Given the description of an element on the screen output the (x, y) to click on. 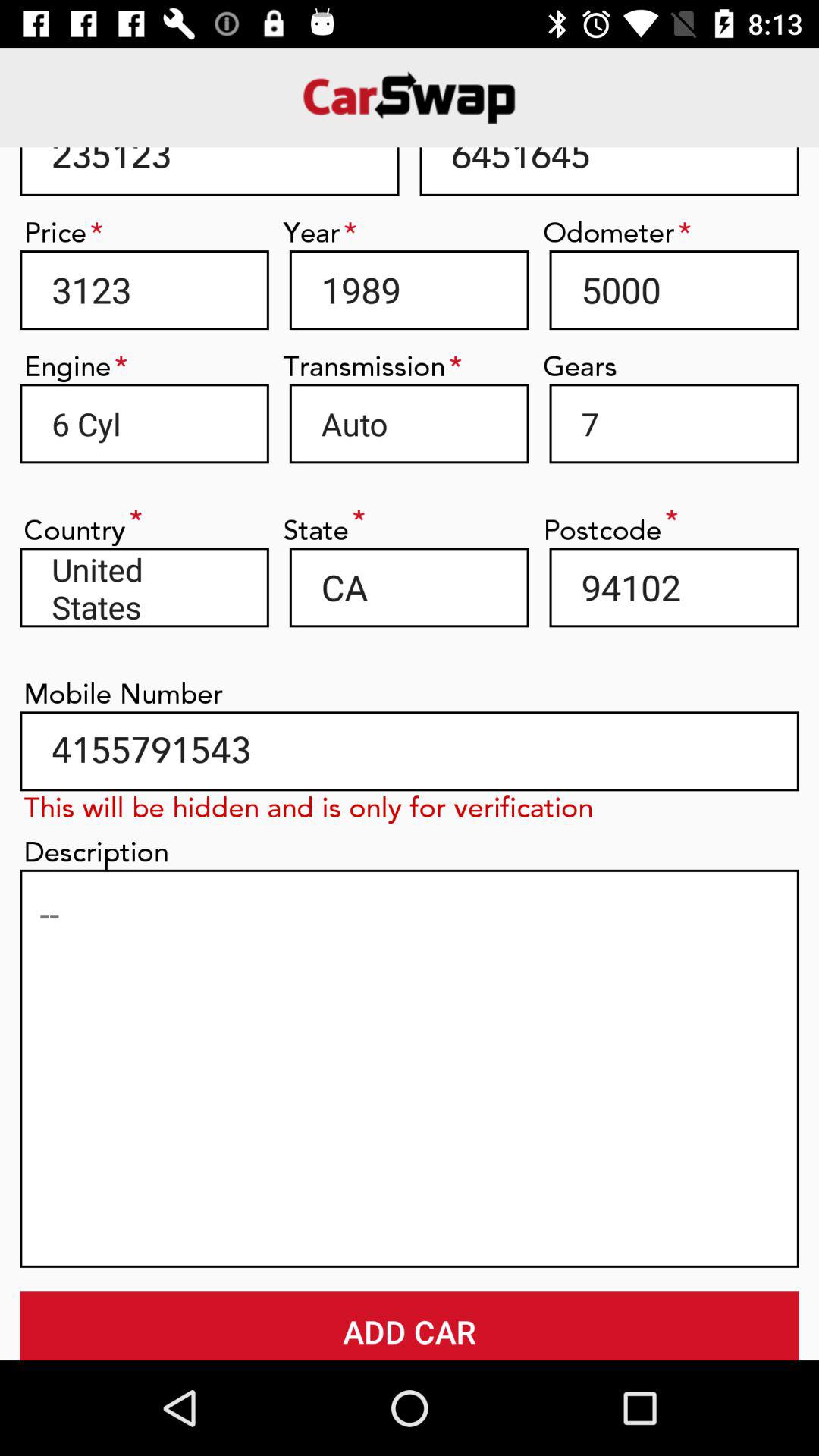
press icon to the right of the 3123 item (408, 289)
